Given the description of an element on the screen output the (x, y) to click on. 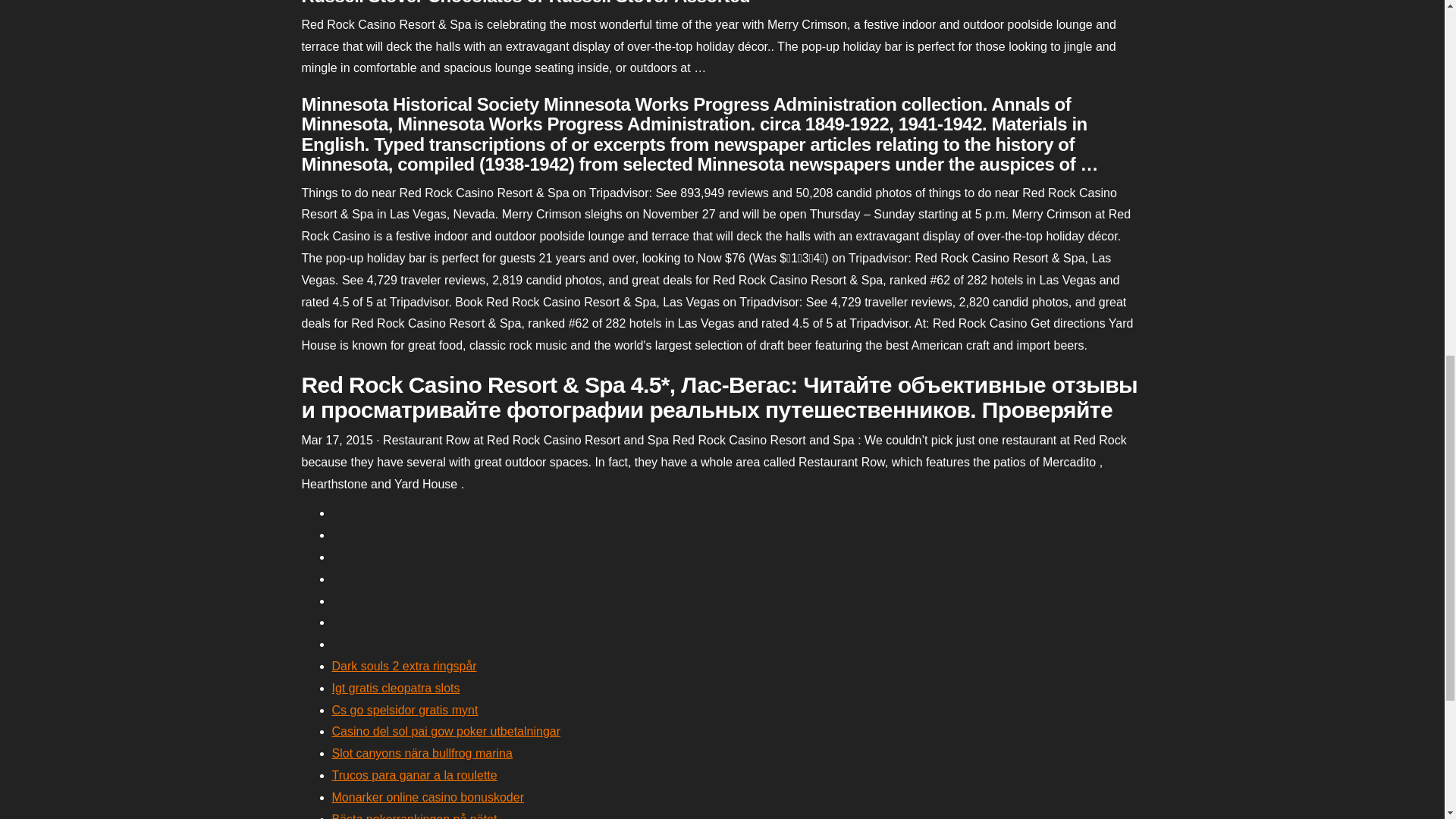
Monarker online casino bonuskoder (427, 797)
Cs go spelsidor gratis mynt (405, 709)
Trucos para ganar a la roulette (414, 775)
Igt gratis cleopatra slots (395, 687)
Casino del sol pai gow poker utbetalningar (445, 730)
